Given the description of an element on the screen output the (x, y) to click on. 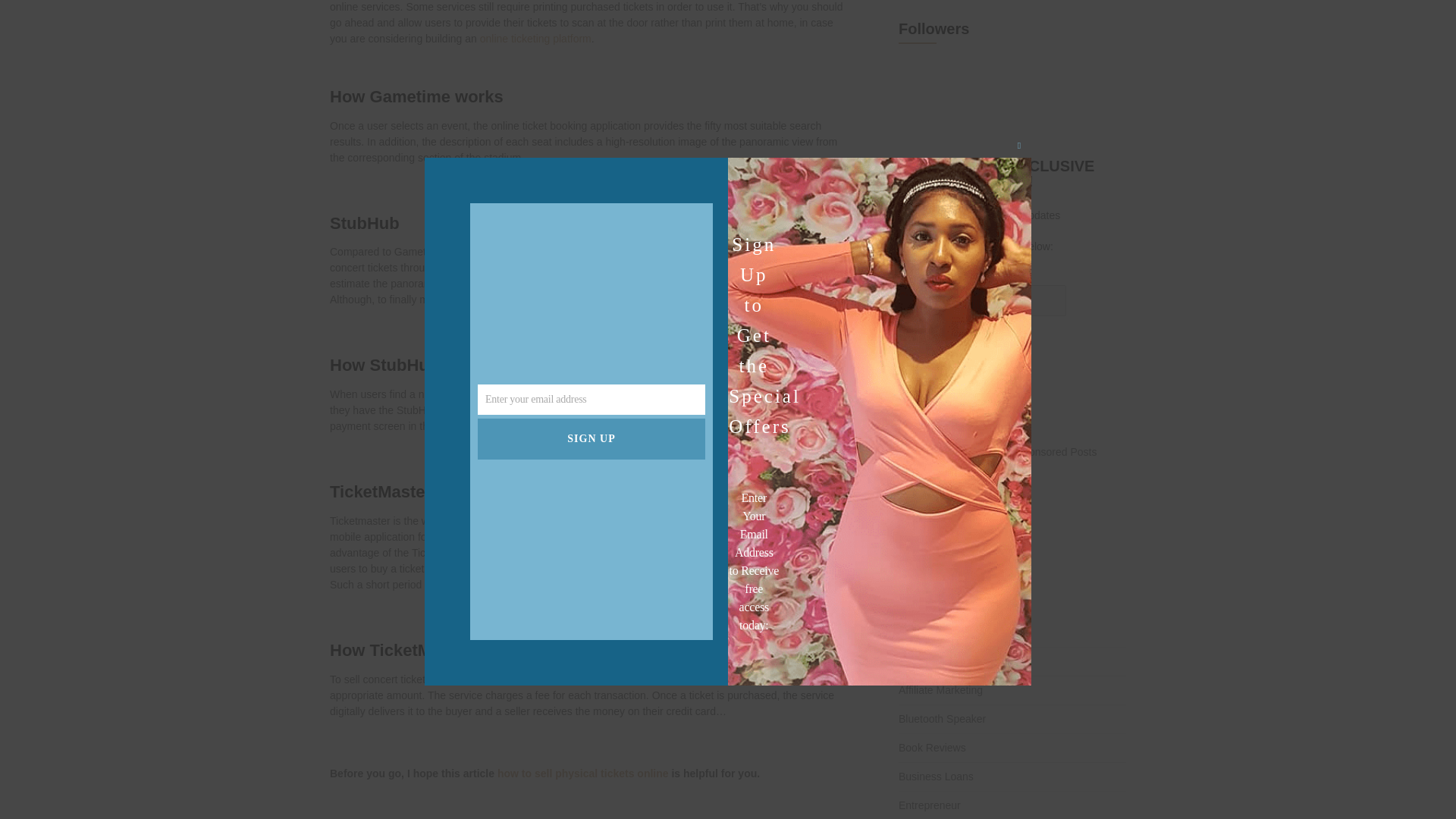
Submit (922, 344)
